Given the description of an element on the screen output the (x, y) to click on. 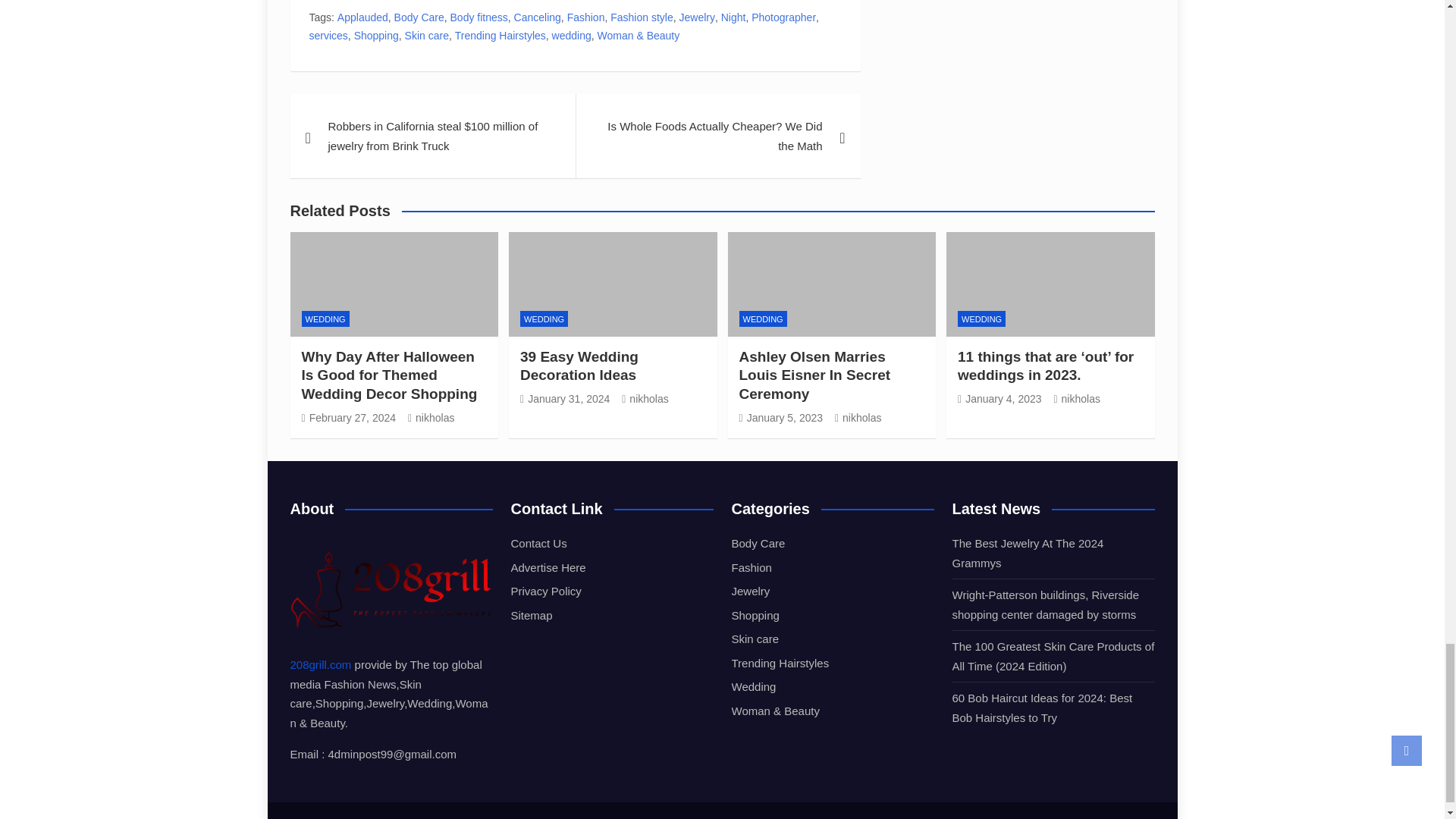
Skin care (426, 36)
Fashion (586, 18)
Fashion style (641, 18)
Night (732, 18)
39 Easy Wedding Decoration Ideas (564, 398)
MantraBrain (860, 817)
Body fitness (478, 18)
Ashley Olsen Marries Louis Eisner In Secret Ceremony (780, 417)
Body Care (419, 18)
services (327, 36)
